Given the description of an element on the screen output the (x, y) to click on. 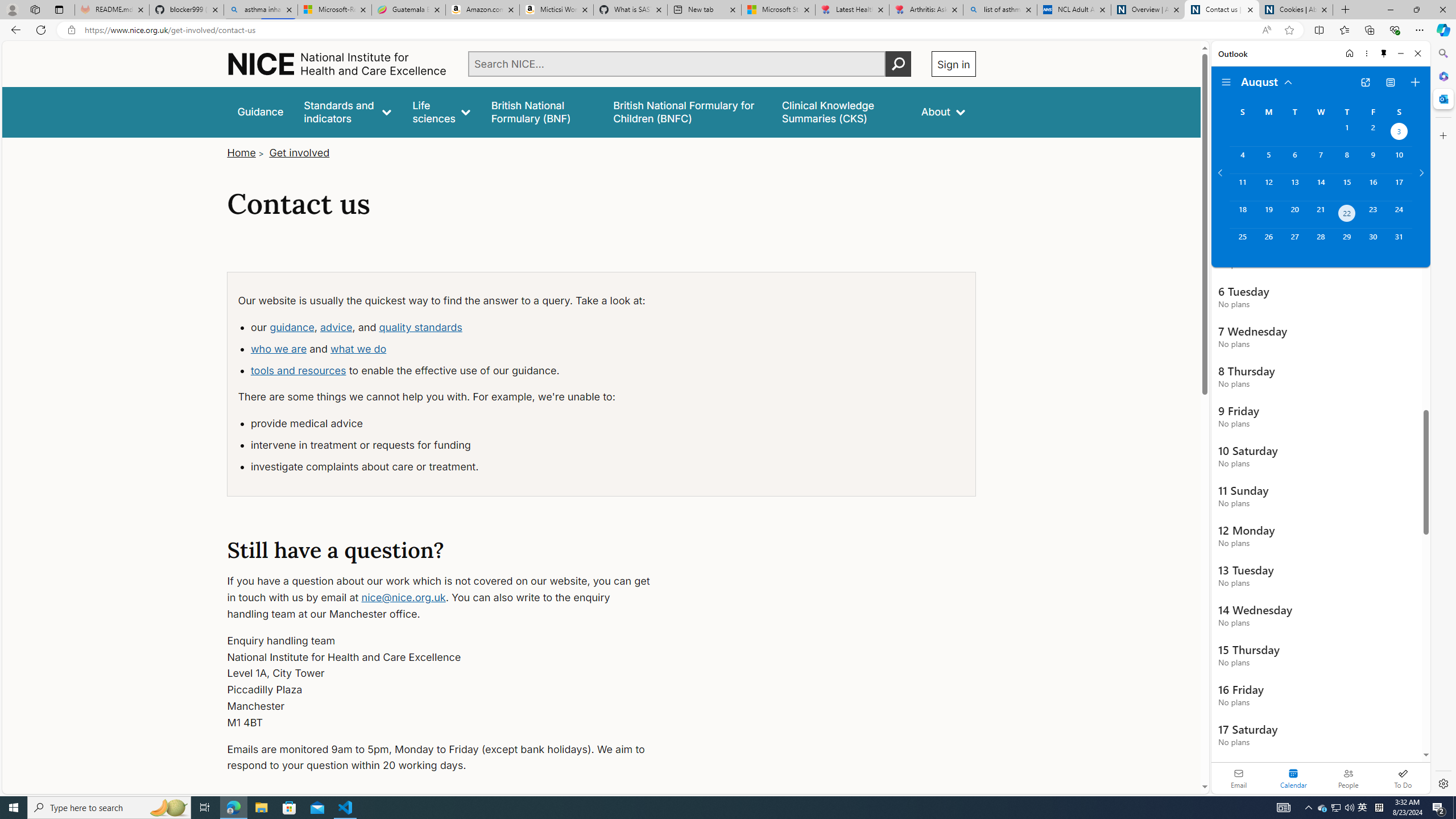
Sunday, August 25, 2024.  (1242, 241)
provide medical advice (454, 424)
our guidance, advice, and quality standards (454, 327)
Tuesday, August 20, 2024.  (1294, 214)
Thursday, August 8, 2024.  (1346, 159)
Get involved (299, 152)
tools and resources (298, 369)
Home> (246, 152)
